Given the description of an element on the screen output the (x, y) to click on. 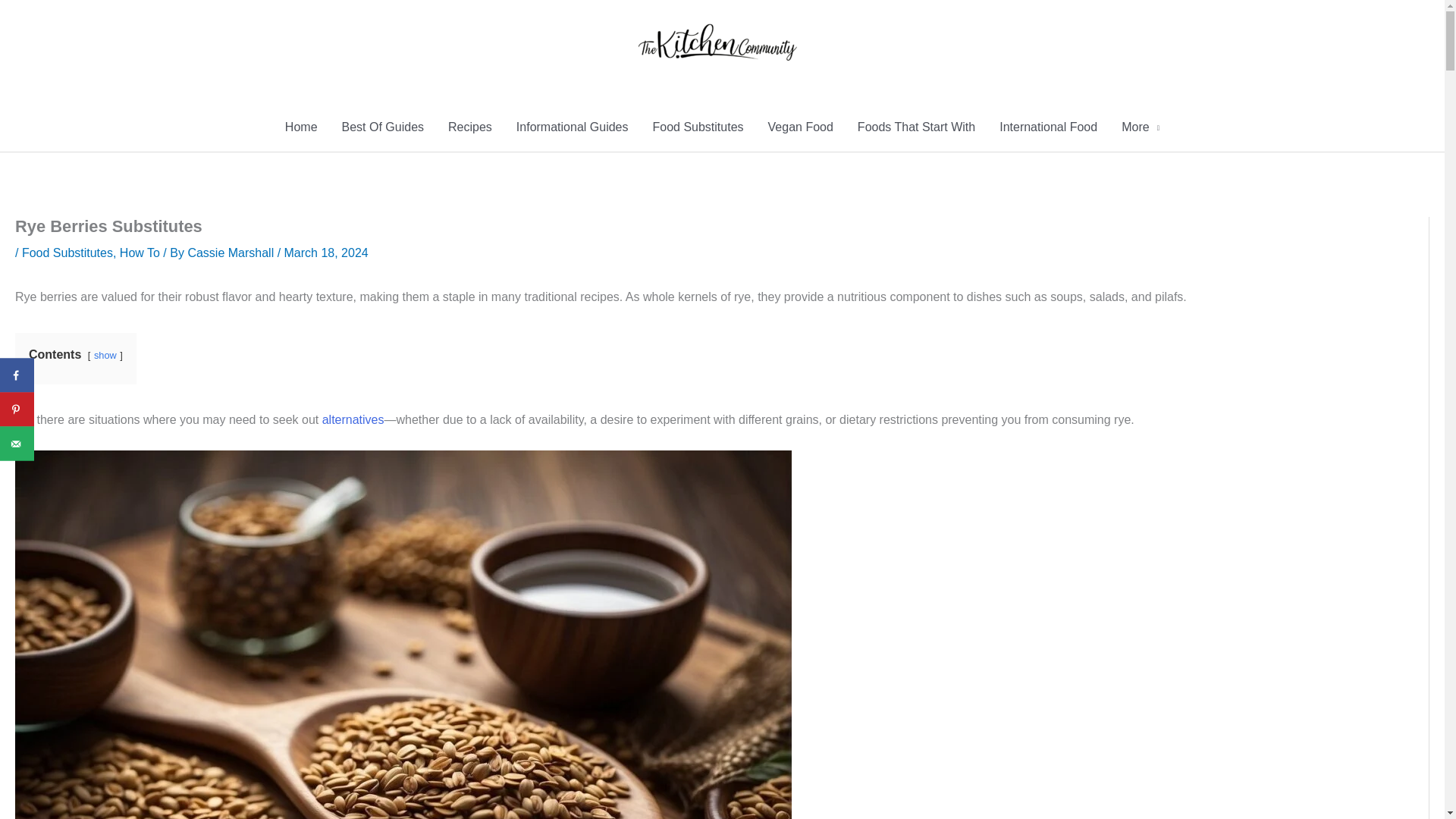
Best Of Guides (383, 127)
International Food (1048, 127)
Food Substitutes (697, 127)
Home (301, 127)
View all posts by Cassie Marshall (231, 252)
Vegan Food (800, 127)
More (1140, 127)
Recipes (469, 127)
Cassie Marshall (231, 252)
Food Substitutes (67, 252)
